Given the description of an element on the screen output the (x, y) to click on. 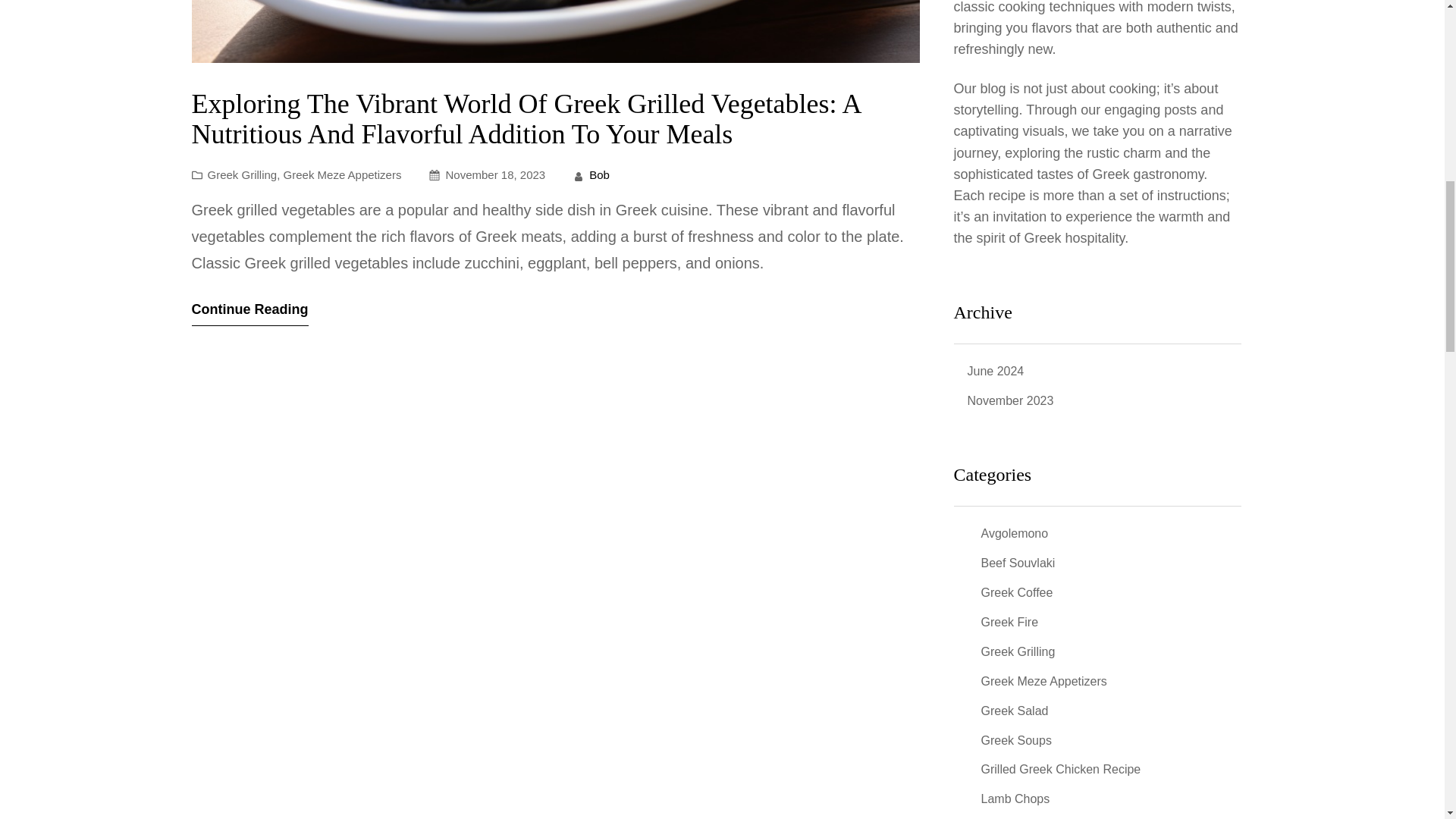
Greek Meze Appetizers (1043, 681)
Grilled Greek Chicken Recipe (1061, 769)
Greek Grilling (1018, 651)
November 18, 2023 (494, 174)
June 2024 (996, 371)
Greek Meze Appetizers (342, 174)
Greek Soups (1016, 740)
Beef Souvlaki (1018, 563)
Lamb Chops (1015, 799)
Continue Reading (248, 311)
Greek Grilling (243, 174)
Greek Salad (1014, 711)
Greek Fire (1010, 622)
November 2023 (1011, 401)
